Given the description of an element on the screen output the (x, y) to click on. 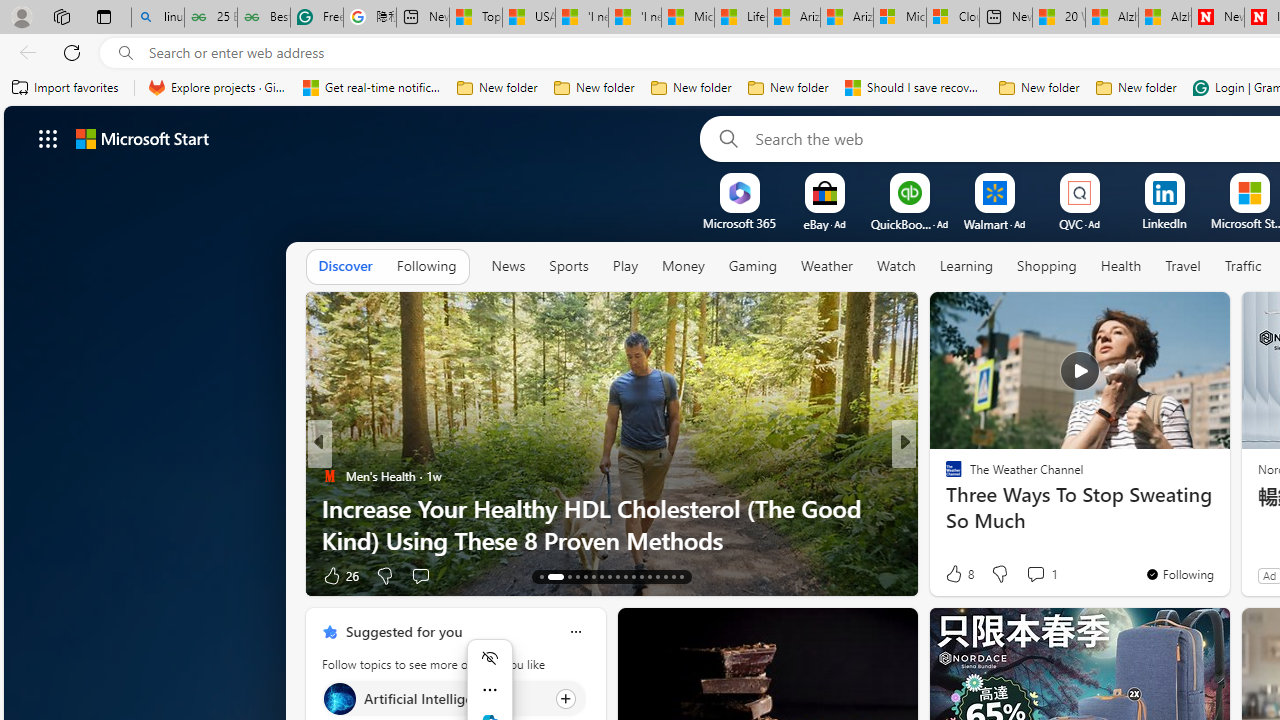
AutomationID: tab-29 (681, 576)
View comments 319 Comment (1035, 575)
147 Like (959, 574)
Eco Hugo (944, 475)
Travel (1183, 265)
Free AI Writing Assistance for Students | Grammarly (316, 17)
40 Like (956, 574)
View comments 7 Comment (1036, 575)
Top Stories - MSN (475, 17)
Travel (1183, 267)
